Given the description of an element on the screen output the (x, y) to click on. 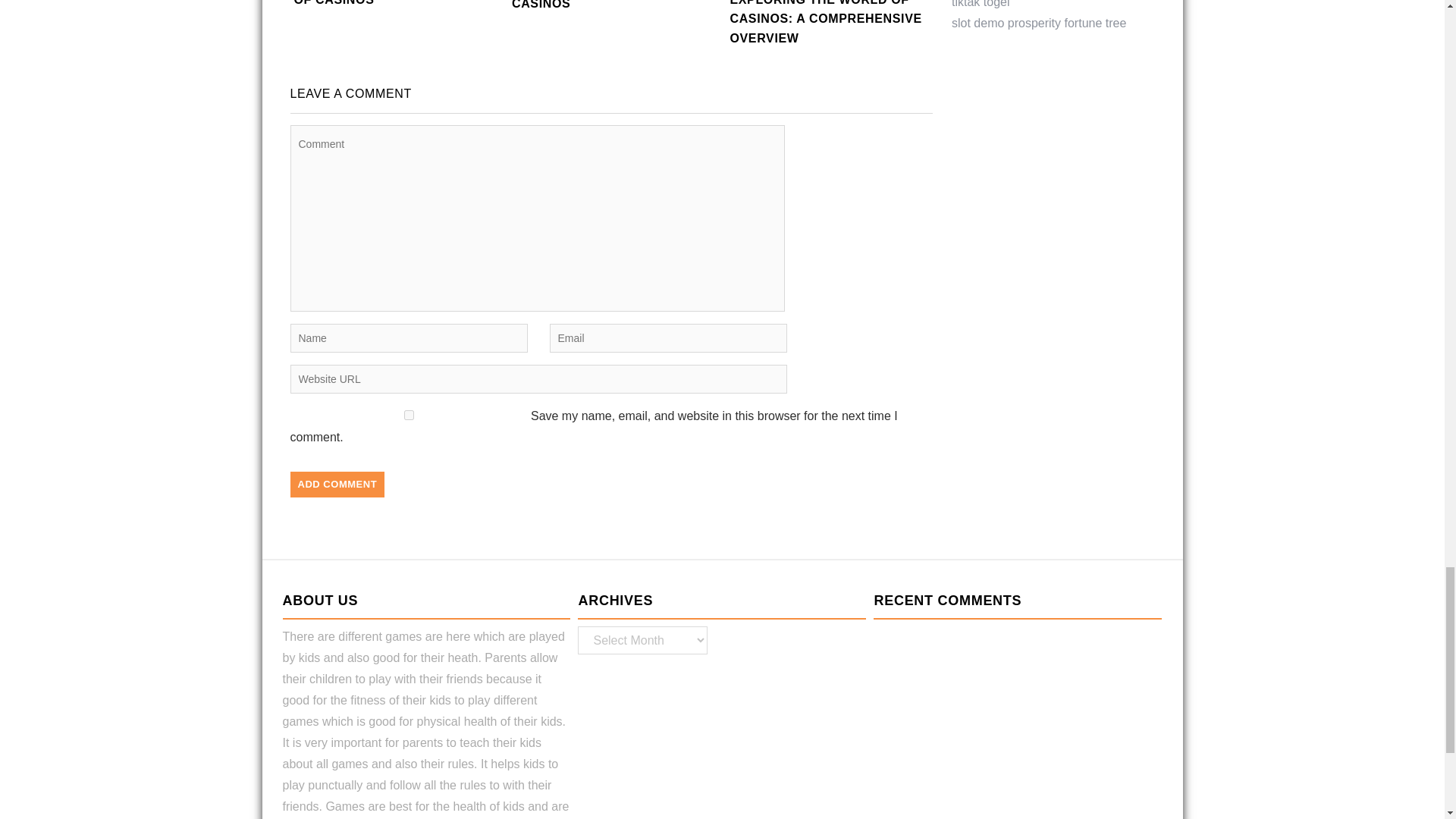
THE EVOLUTION AND IMPACT OF CASINOS (617, 15)
EXPLORING THE WORLD OF CASINOS: A COMPREHENSIVE OVERVIEW (834, 33)
Add Comment (336, 484)
THE ALLURE AND INTRICACIES OF CASINOS (398, 13)
Add Comment (336, 484)
yes (408, 415)
